Given the description of an element on the screen output the (x, y) to click on. 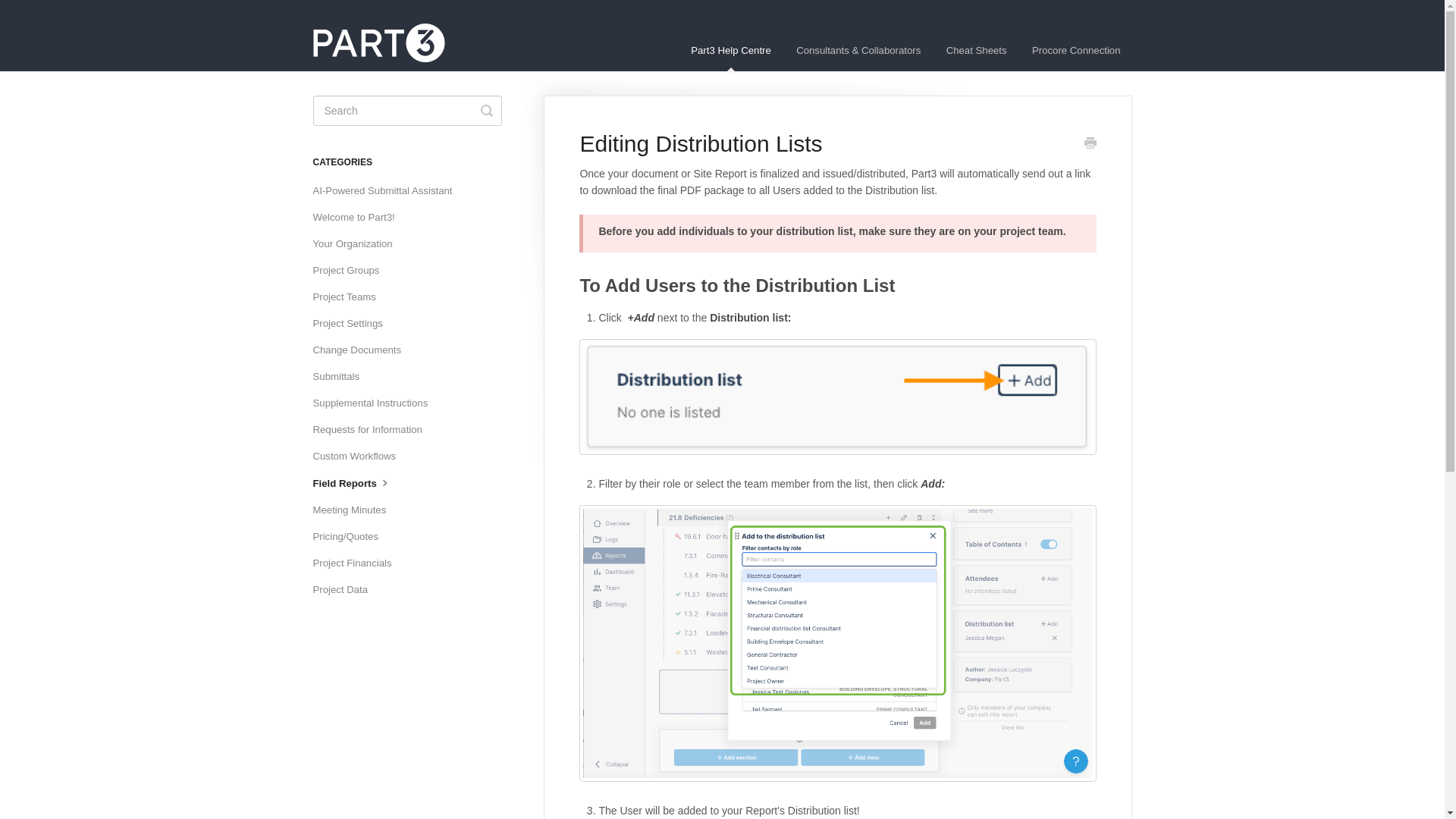
Change Documents (362, 350)
AI-Powered Submittal Assistant (388, 191)
search-query (406, 110)
Submittals (342, 376)
Project Data (345, 589)
Part3 Help Centre (731, 50)
Custom Workflows (360, 456)
Project Teams (350, 297)
Project Settings (353, 323)
Project Groups (351, 270)
Your Organization (358, 243)
Welcome to Part3! (359, 217)
Print this article (1090, 144)
Toggle Search (486, 110)
Cheat Sheets (975, 50)
